Given the description of an element on the screen output the (x, y) to click on. 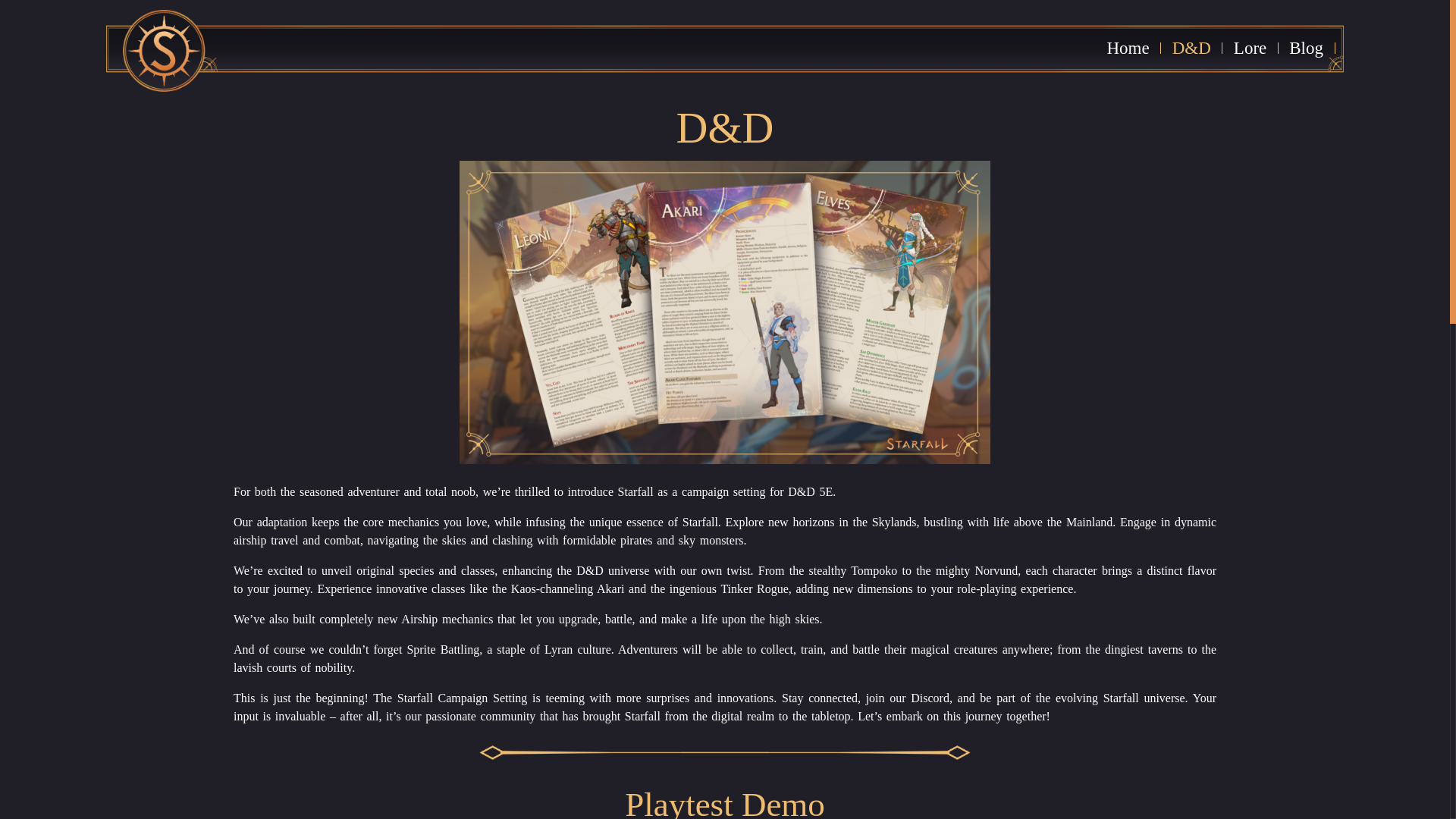
Home (1127, 48)
Lore (1250, 48)
Blog (1306, 48)
